Given the description of an element on the screen output the (x, y) to click on. 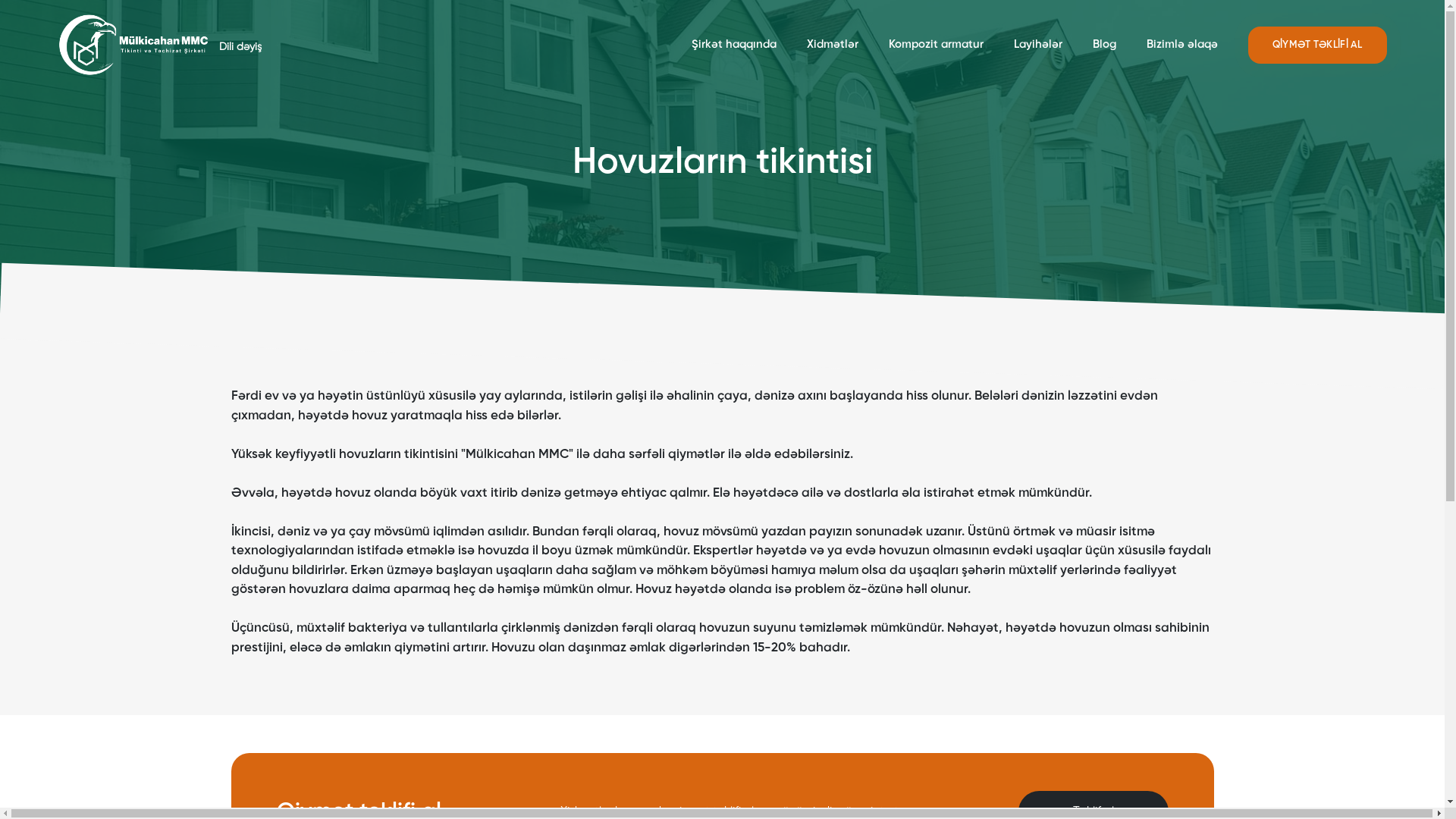
Kompozit armatur Element type: text (935, 44)
Blog Element type: text (1104, 44)
